Given the description of an element on the screen output the (x, y) to click on. 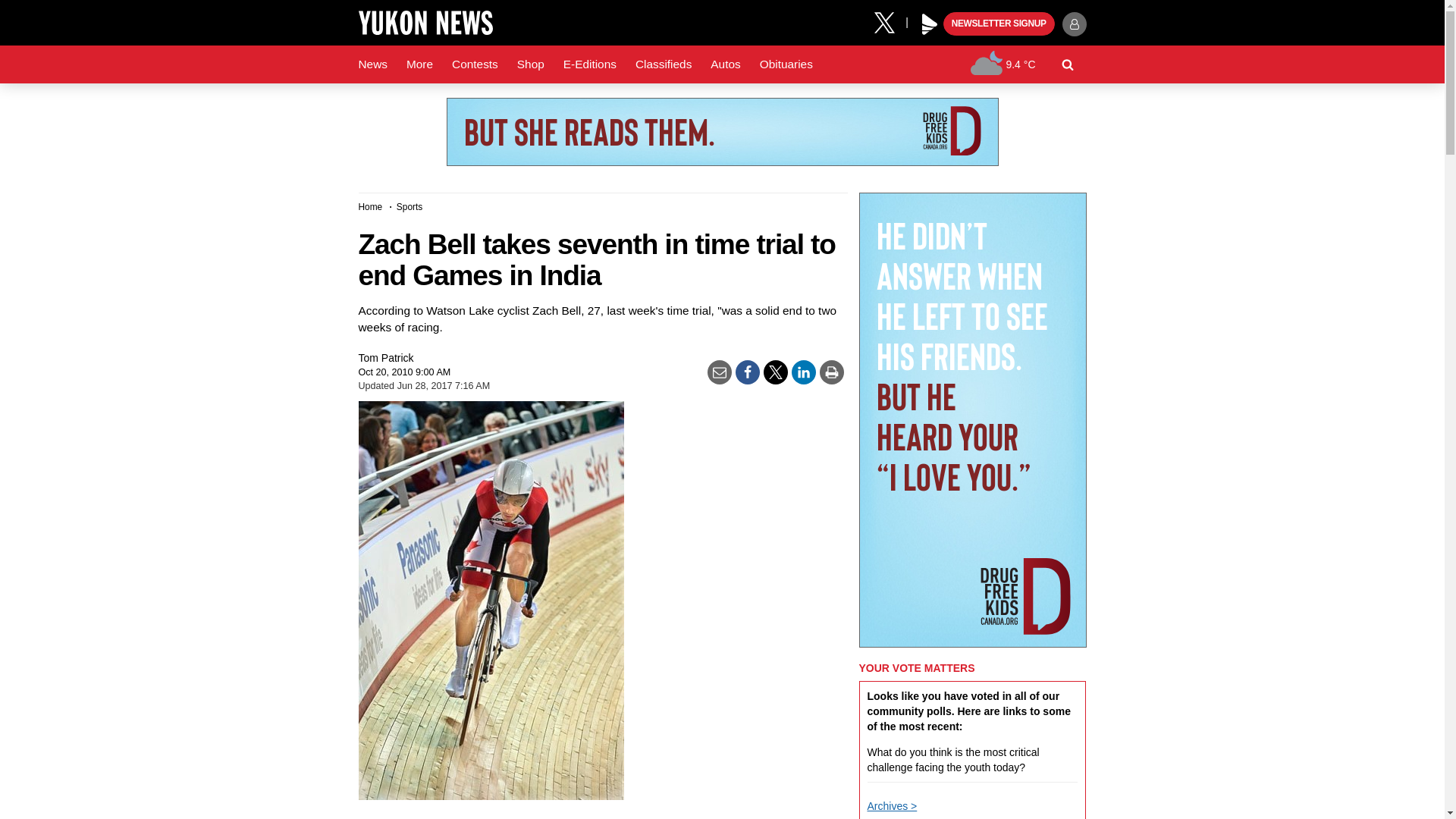
News (372, 64)
Play (929, 24)
Black Press Media (929, 24)
3rd party ad content (721, 131)
NEWSLETTER SIGNUP (998, 24)
X (889, 21)
